Given the description of an element on the screen output the (x, y) to click on. 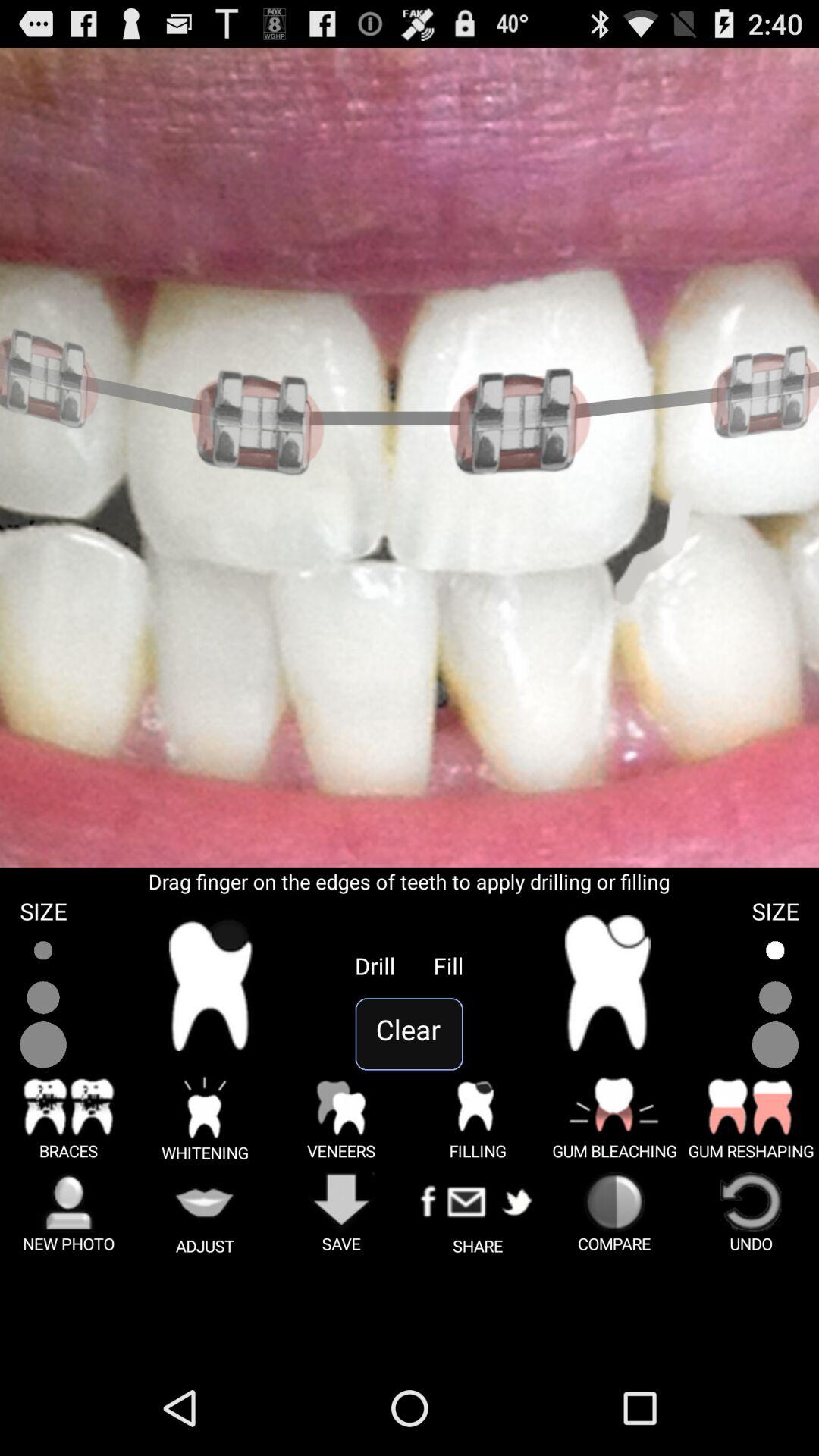
animates a filling on a selected tooth (607, 983)
